Given the description of an element on the screen output the (x, y) to click on. 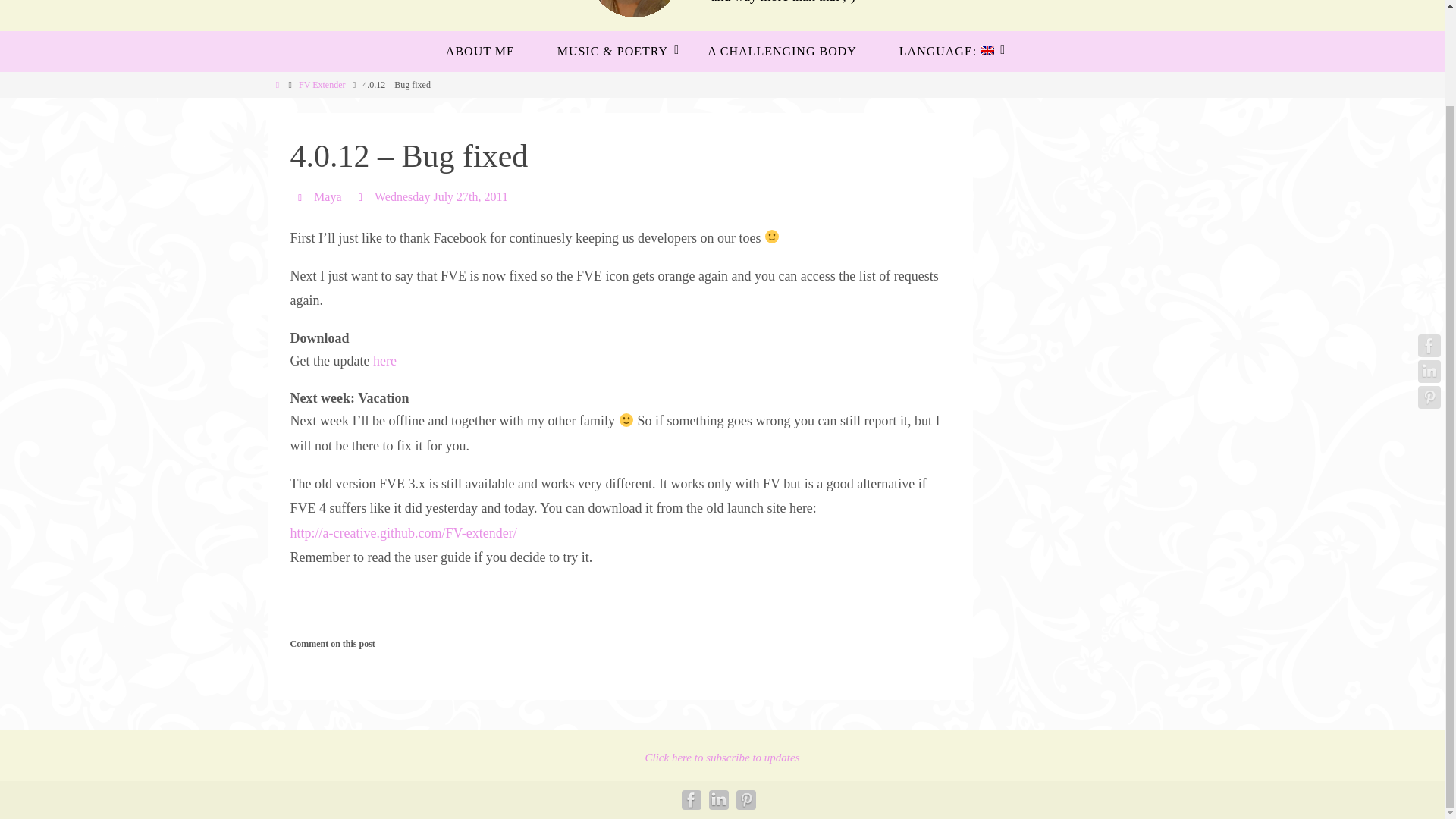
Facebook (1429, 234)
here (384, 360)
LinkedIn (1429, 260)
A CHALLENGING BODY (781, 51)
Pinterest (1429, 286)
LANGUAGE:  (944, 51)
LinkedIn (717, 799)
English (944, 51)
ABOUT ME (480, 51)
FV Extender (321, 84)
Author  (301, 196)
Wednesday July 27th, 2011 (441, 196)
Date (362, 196)
Maya (327, 196)
Click here to subscribe to updates (722, 757)
